Given the description of an element on the screen output the (x, y) to click on. 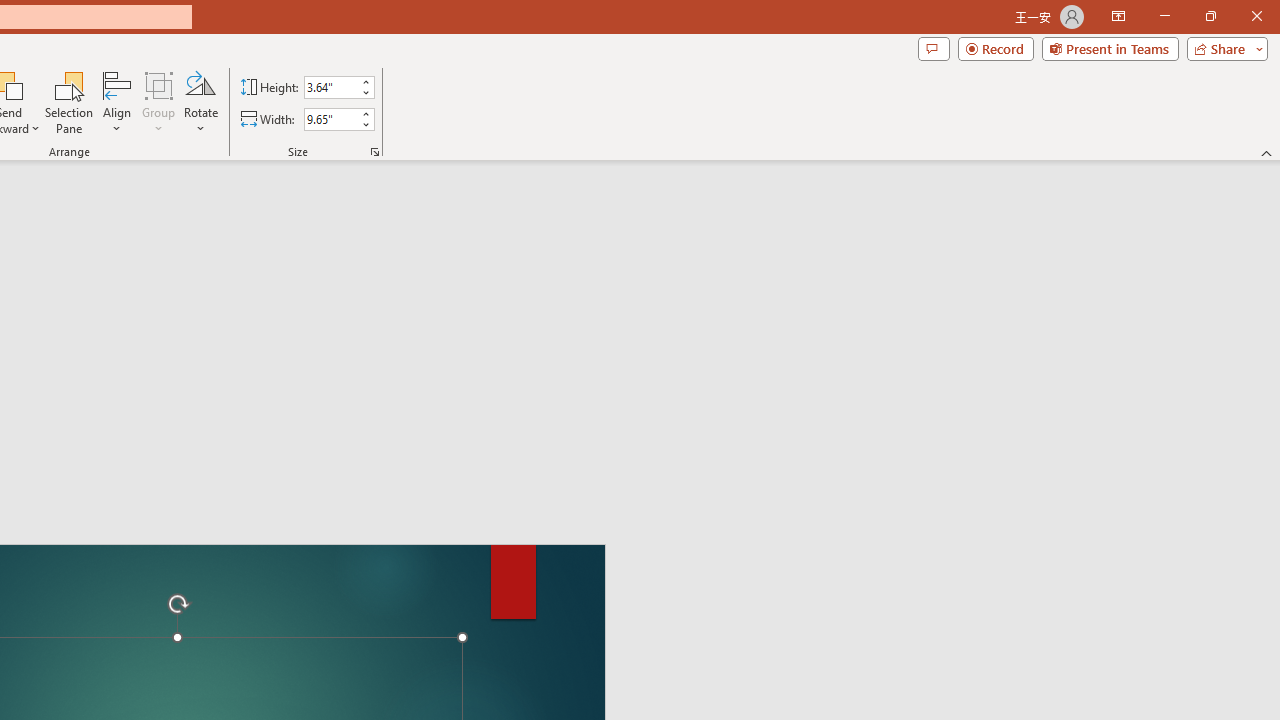
Shape Height (330, 87)
